Given the description of an element on the screen output the (x, y) to click on. 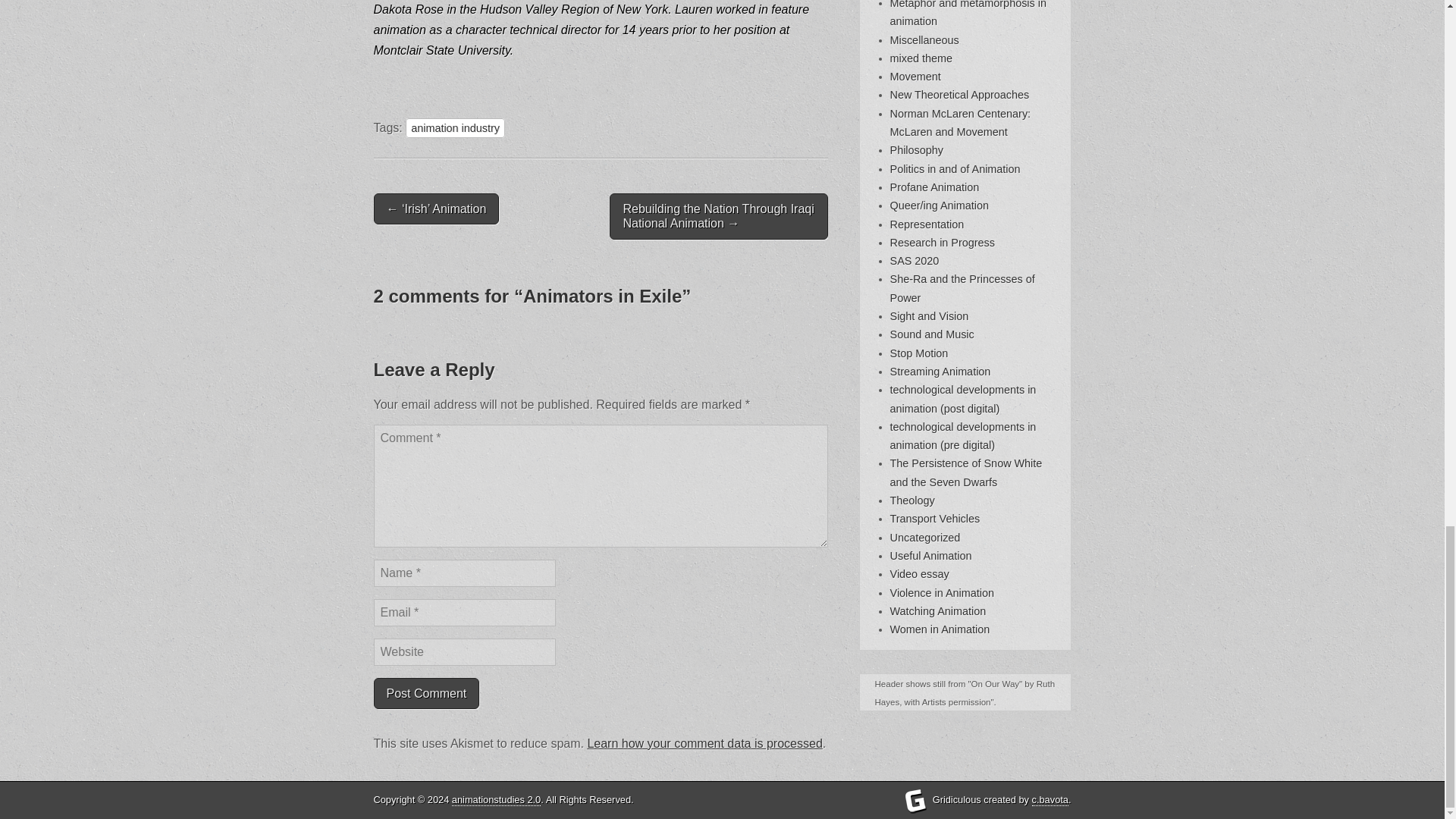
Post Comment (425, 693)
Post Comment (425, 693)
Learn how your comment data is processed (704, 743)
animation industry (455, 127)
